Given the description of an element on the screen output the (x, y) to click on. 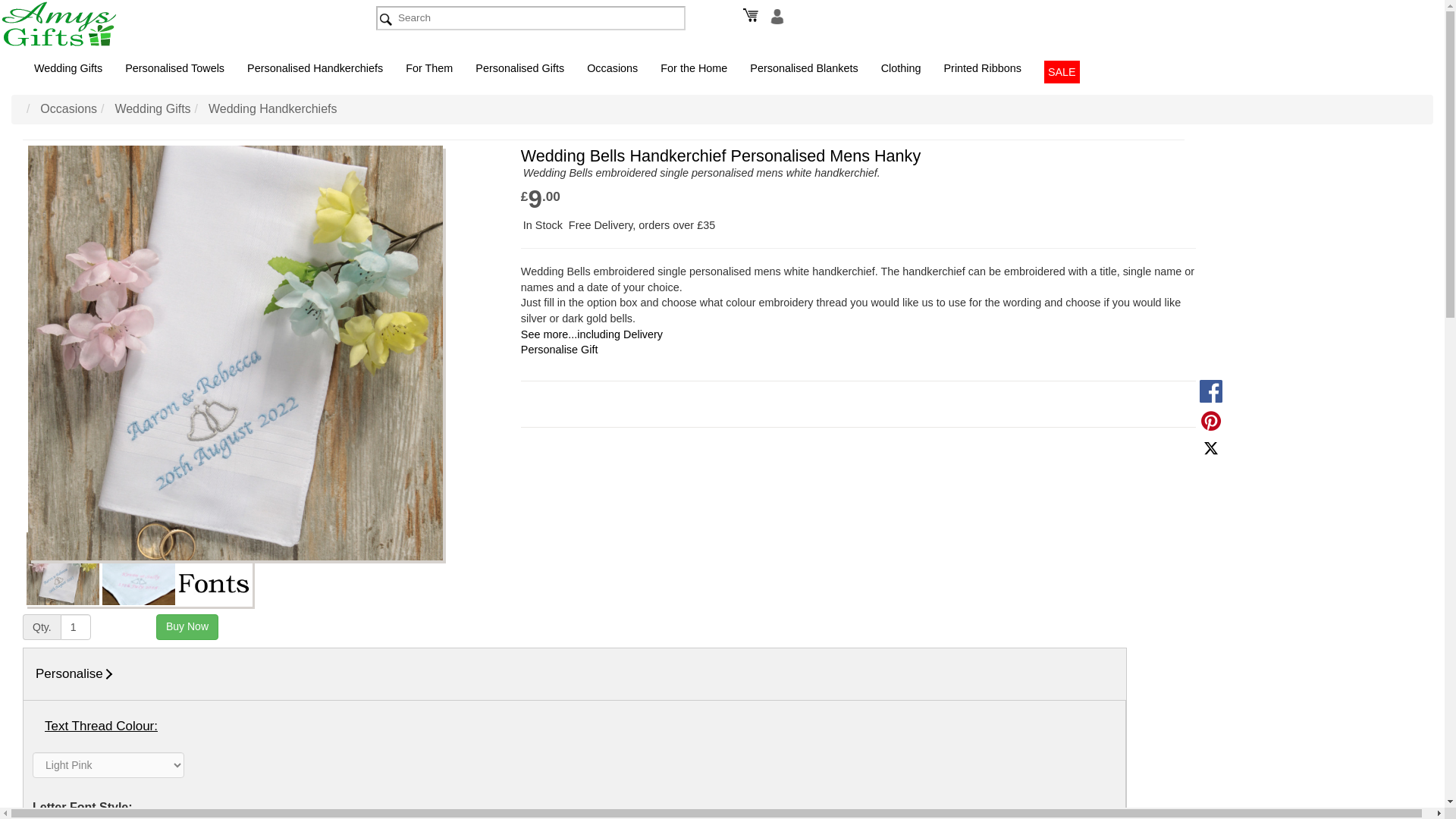
1 (75, 626)
For Them (429, 67)
My Account (774, 15)
Wedding Gifts (68, 67)
AmysGifts.co.uk Home (171, 24)
Personalised Towels (174, 67)
AmysGifts (75, 24)
Personalised Handkerchiefs (314, 67)
